Given the description of an element on the screen output the (x, y) to click on. 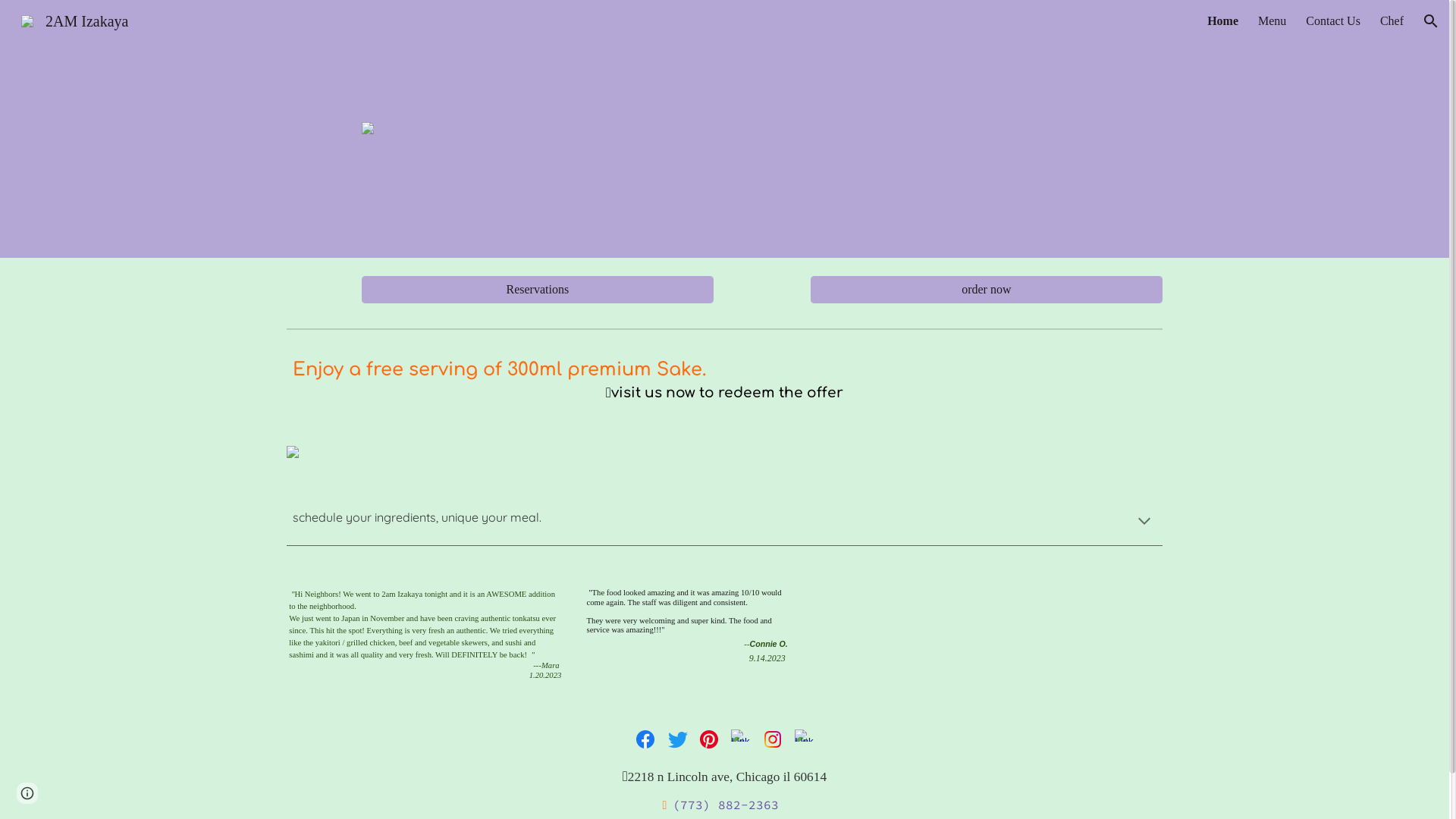
2AM Izakaya Element type: text (74, 19)
Home Element type: text (1222, 21)
Contact Us Element type: text (1332, 21)
order now Element type: text (986, 289)
Menu Element type: text (1272, 21)
Chef Element type: text (1391, 21)
Reservations Element type: text (537, 289)
9.14.2023 Element type: text (767, 656)
2218 n Lincoln ave, Chicago il 60614 Element type: text (726, 778)
